Given the description of an element on the screen output the (x, y) to click on. 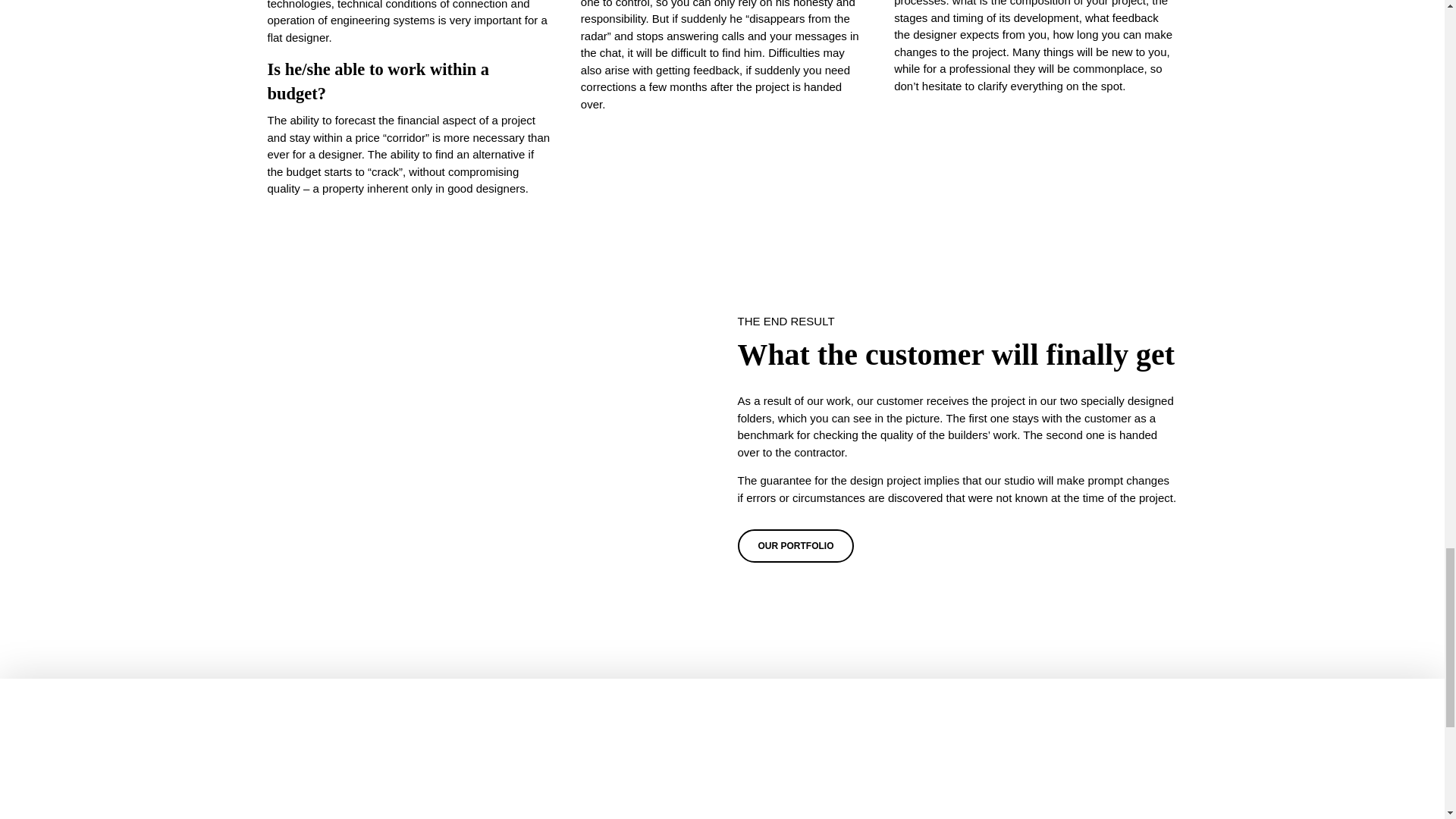
amazing interiors logo (721, 759)
OUR PORTFOLIO (794, 545)
Amazing Interiors design project (486, 435)
